Given the description of an element on the screen output the (x, y) to click on. 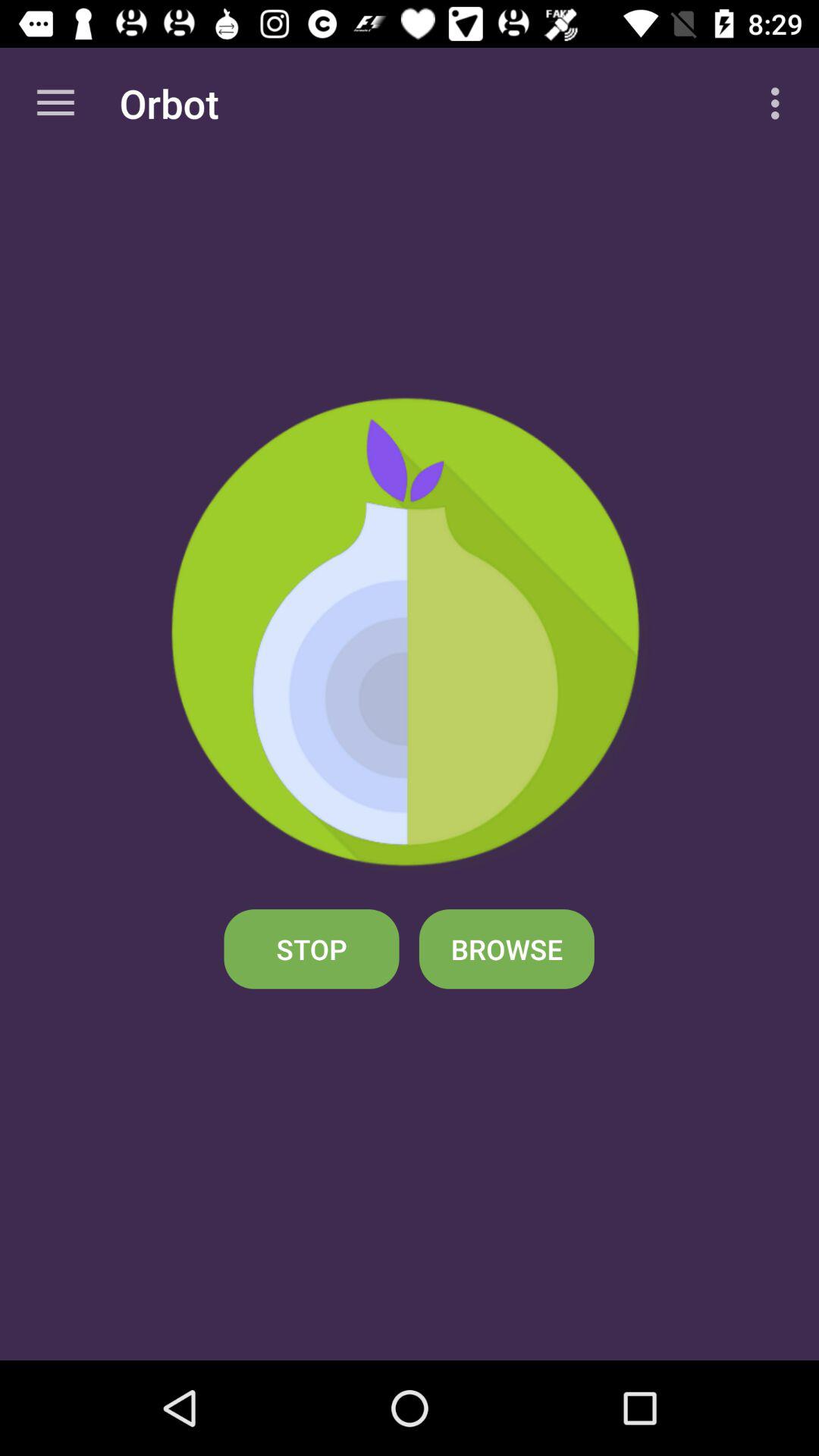
tap icon next to stop icon (506, 949)
